Given the description of an element on the screen output the (x, y) to click on. 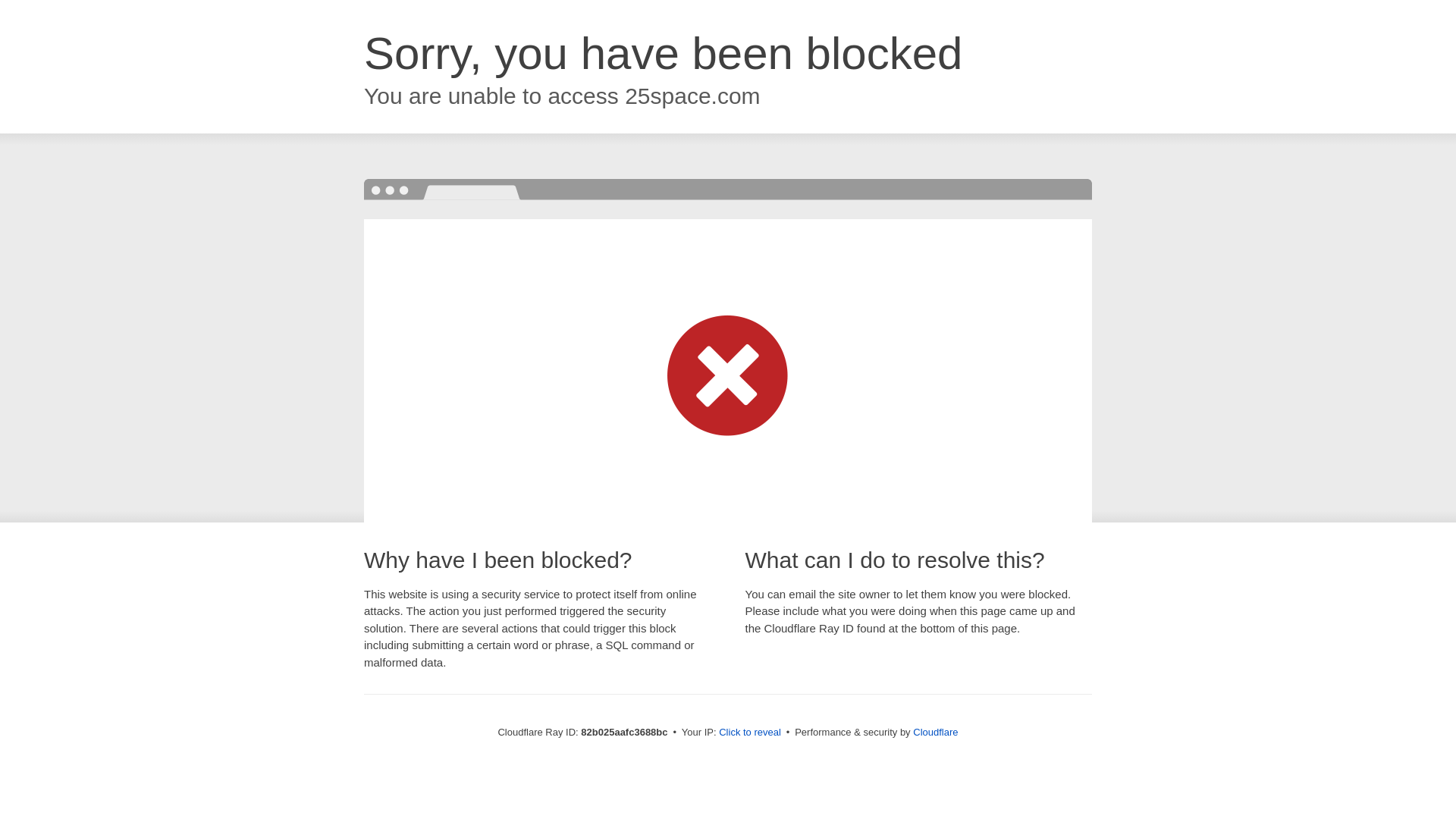
Cloudflare Element type: text (935, 731)
Click to reveal Element type: text (749, 732)
